Given the description of an element on the screen output the (x, y) to click on. 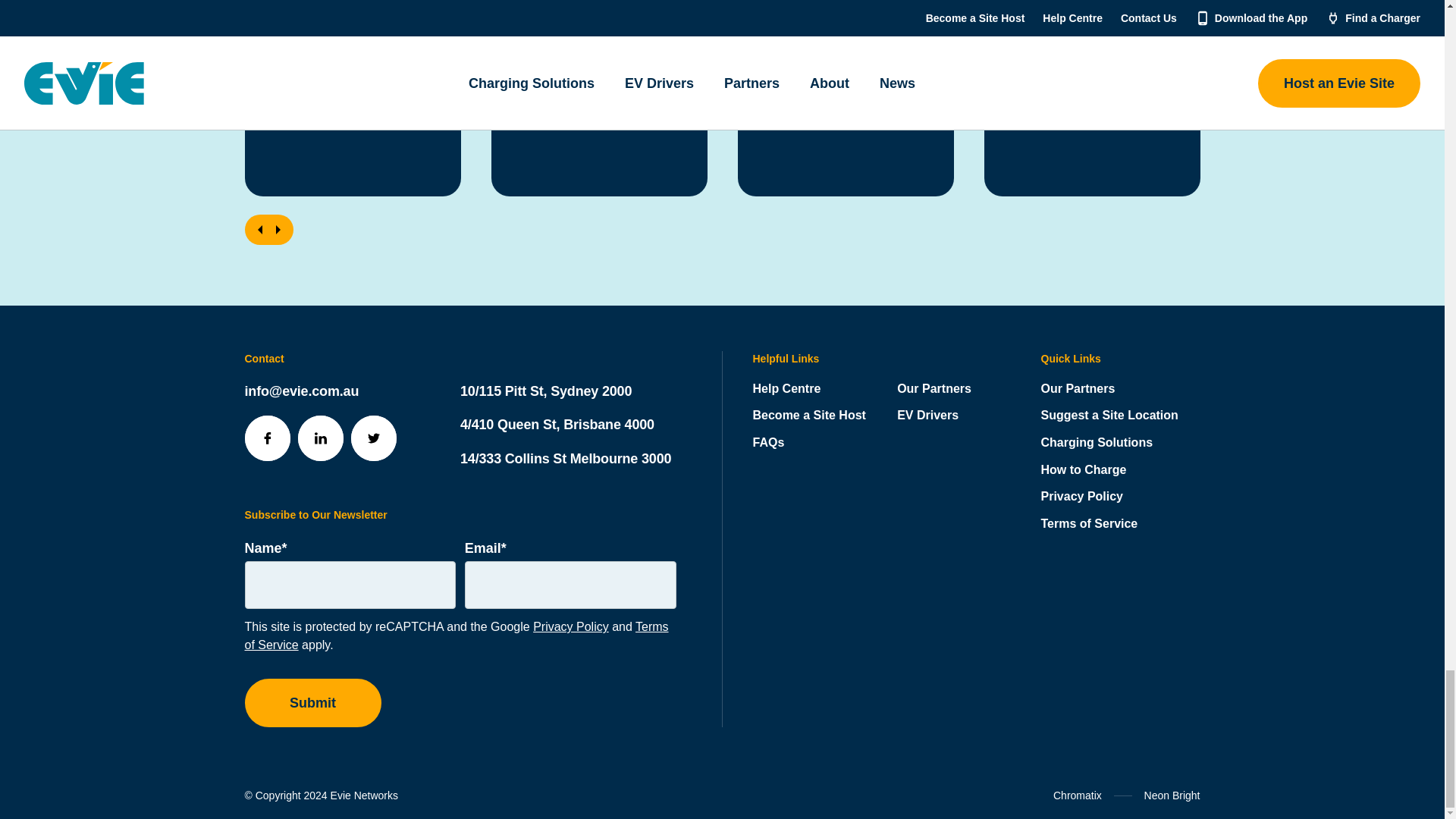
QLD road trip (599, 8)
Navigating Your Journey with Evie (352, 8)
NSW blog image (844, 8)
